Given the description of an element on the screen output the (x, y) to click on. 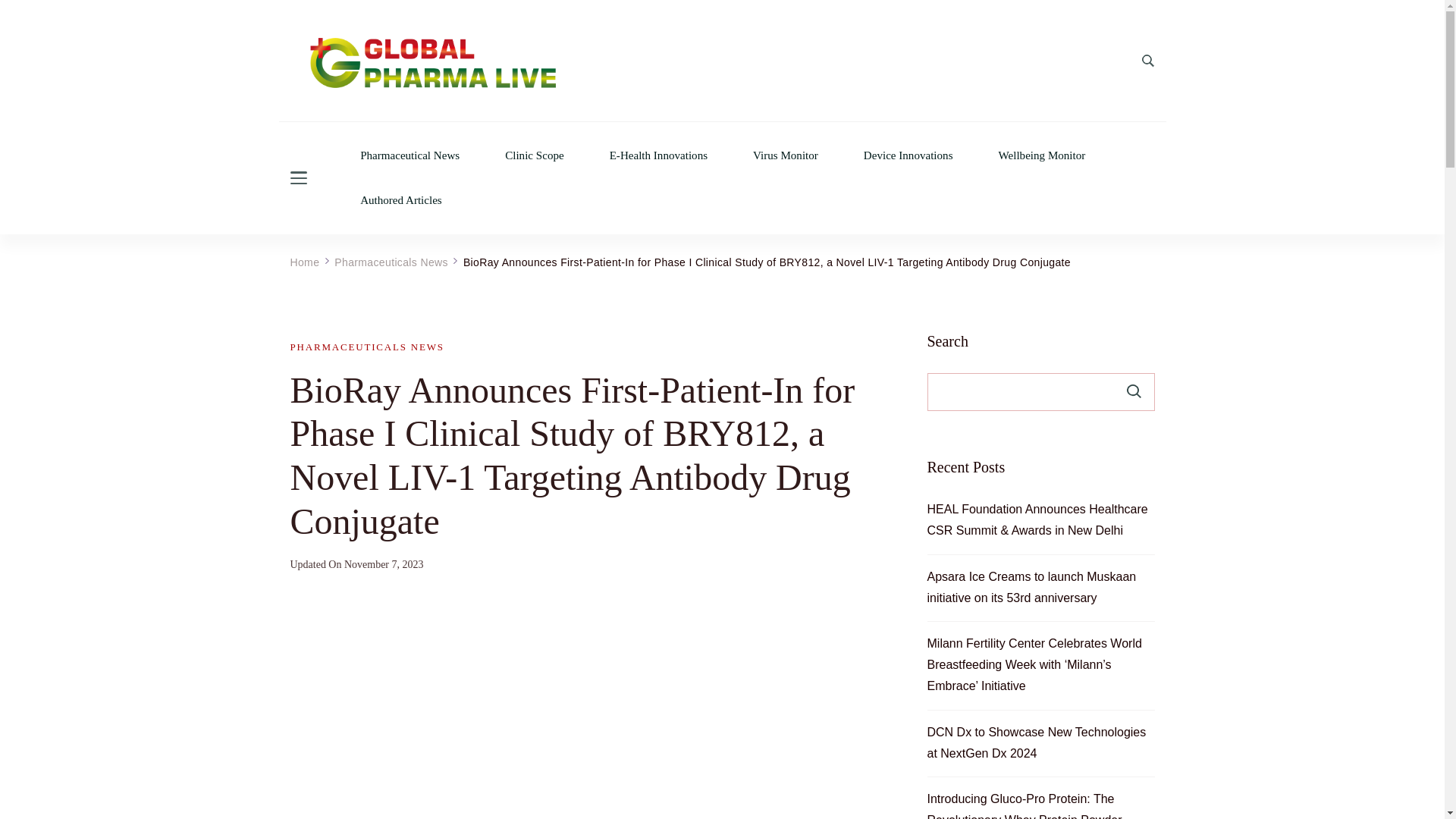
Device Innovations (908, 155)
Global Pharma Live (381, 121)
Clinic Scope (534, 155)
Wellbeing Monitor (1042, 155)
E-Health Innovations (658, 155)
Pharmaceutical News (409, 155)
Virus Monitor (785, 155)
Authored Articles (400, 200)
